Given the description of an element on the screen output the (x, y) to click on. 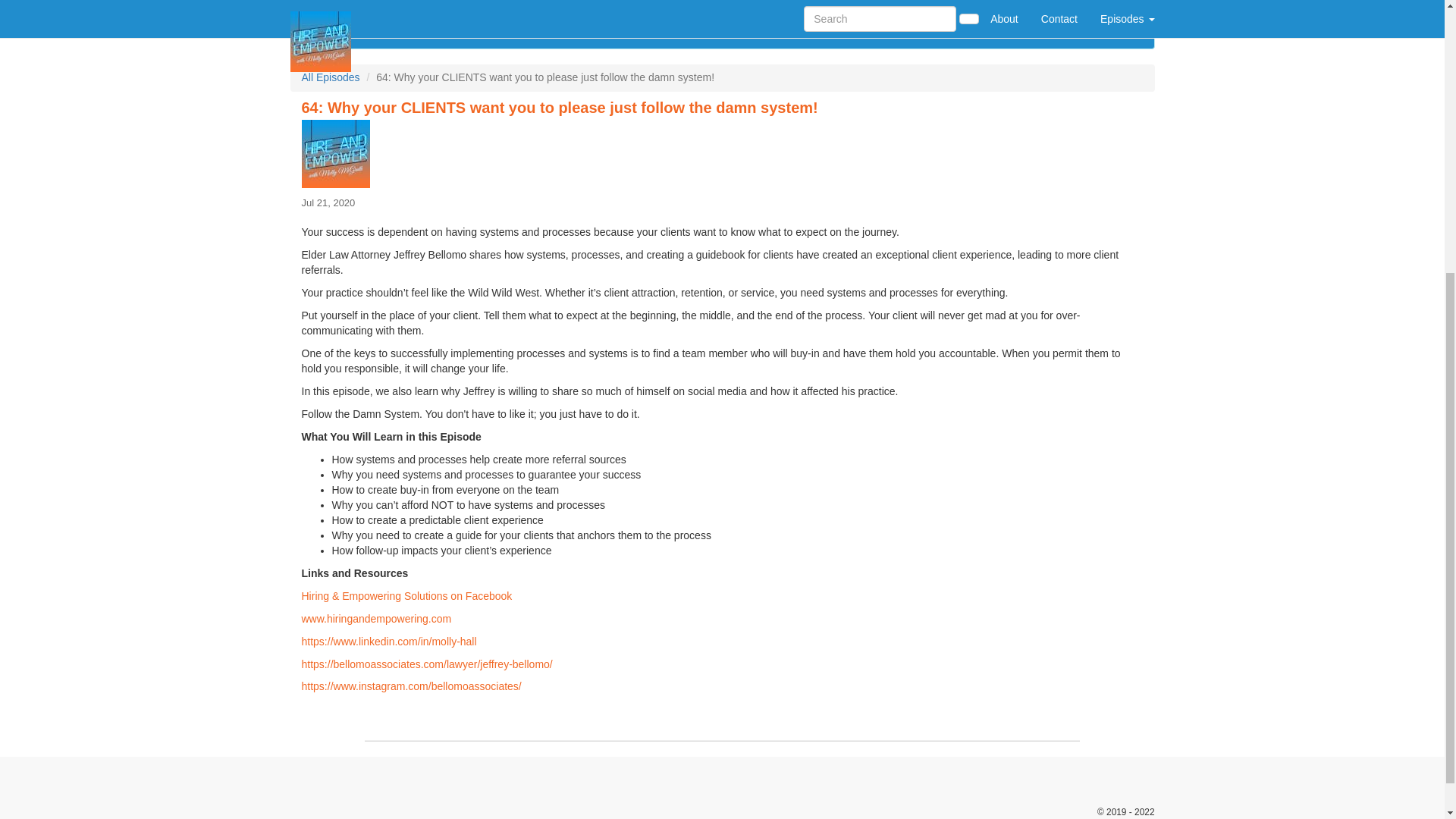
Page 2 (721, 653)
